Given the description of an element on the screen output the (x, y) to click on. 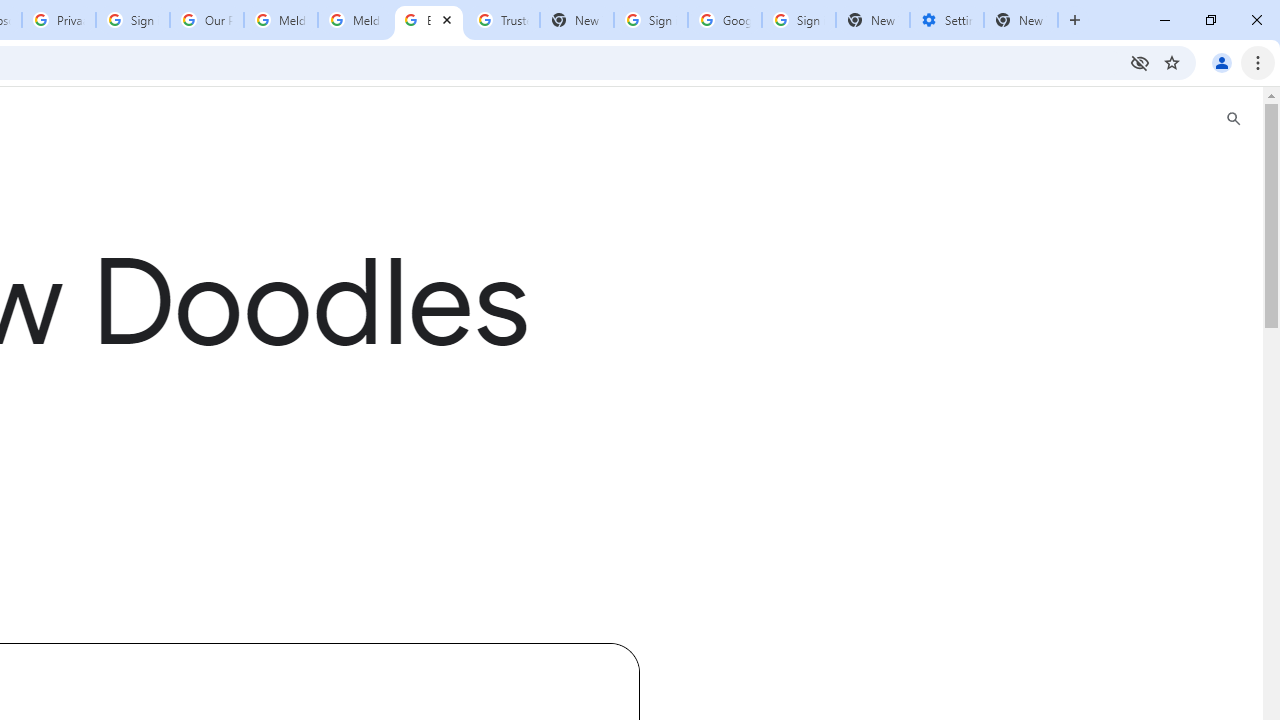
Trusted Information and Content - Google Safety Center (502, 20)
Sign in - Google Accounts (651, 20)
New Tab (872, 20)
Explore the Process of Creating a Doodle - Google Doodles (428, 20)
Settings - Addresses and more (947, 20)
Google Cybersecurity Innovations - Google Safety Center (724, 20)
New Tab (1021, 20)
Sign in - Google Accounts (133, 20)
Sign in - Google Accounts (798, 20)
